Given the description of an element on the screen output the (x, y) to click on. 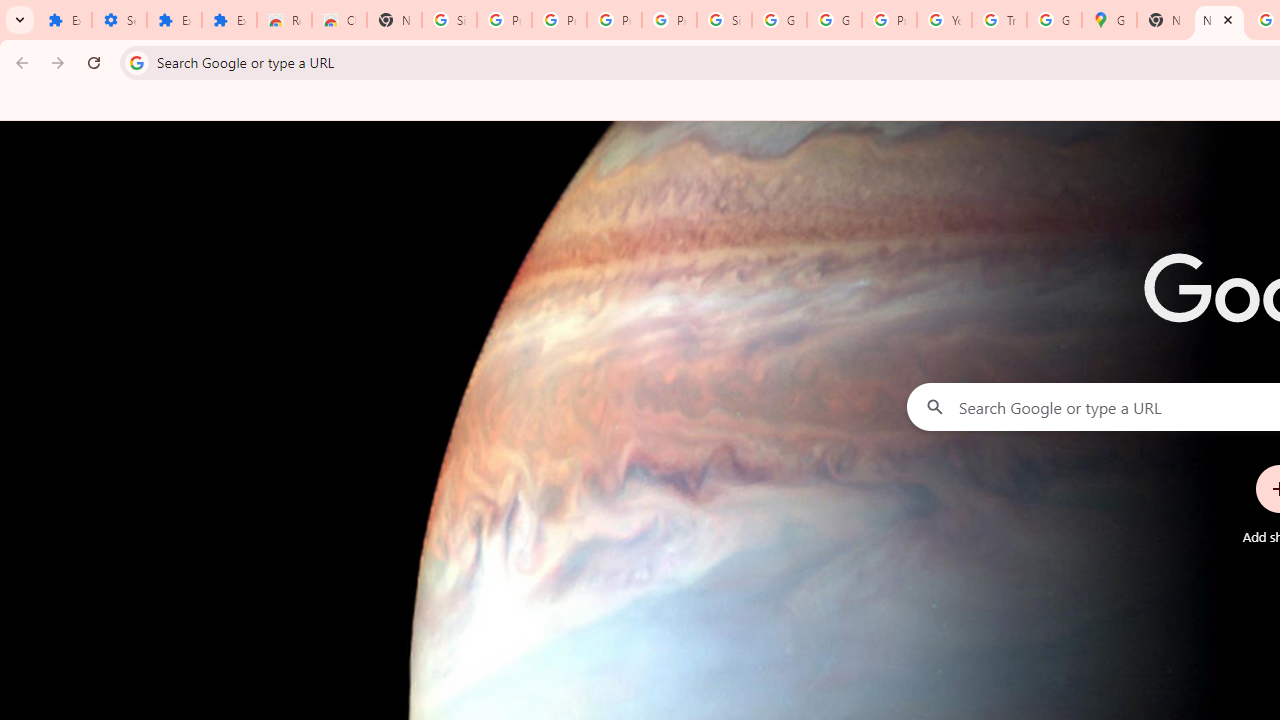
Reviews: Helix Fruit Jump Arcade Game (284, 20)
YouTube (943, 20)
Extensions (64, 20)
Google Maps (1108, 20)
Sign in - Google Accounts (724, 20)
New Tab (394, 20)
Search icon (136, 62)
